Given the description of an element on the screen output the (x, y) to click on. 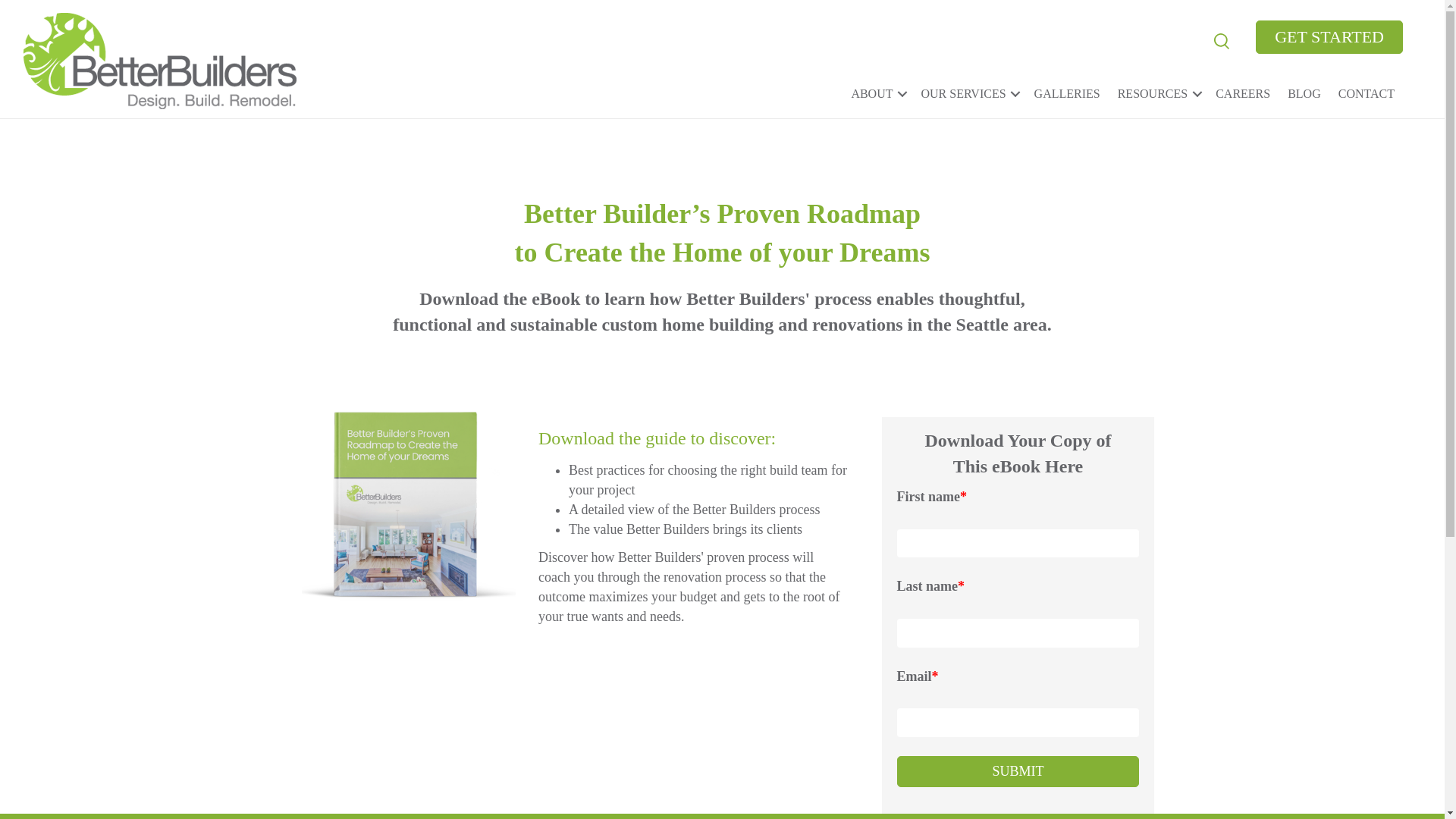
ABOUT (877, 93)
Submit (1017, 771)
BetterBuilders (160, 60)
GALLERIES (1067, 93)
OUR SERVICES (968, 93)
CAREERS (1242, 93)
RESOURCES (1158, 93)
CONTACT (1366, 93)
BLOG (1304, 93)
GET STARTED (1329, 37)
Submit (1017, 771)
